Given the description of an element on the screen output the (x, y) to click on. 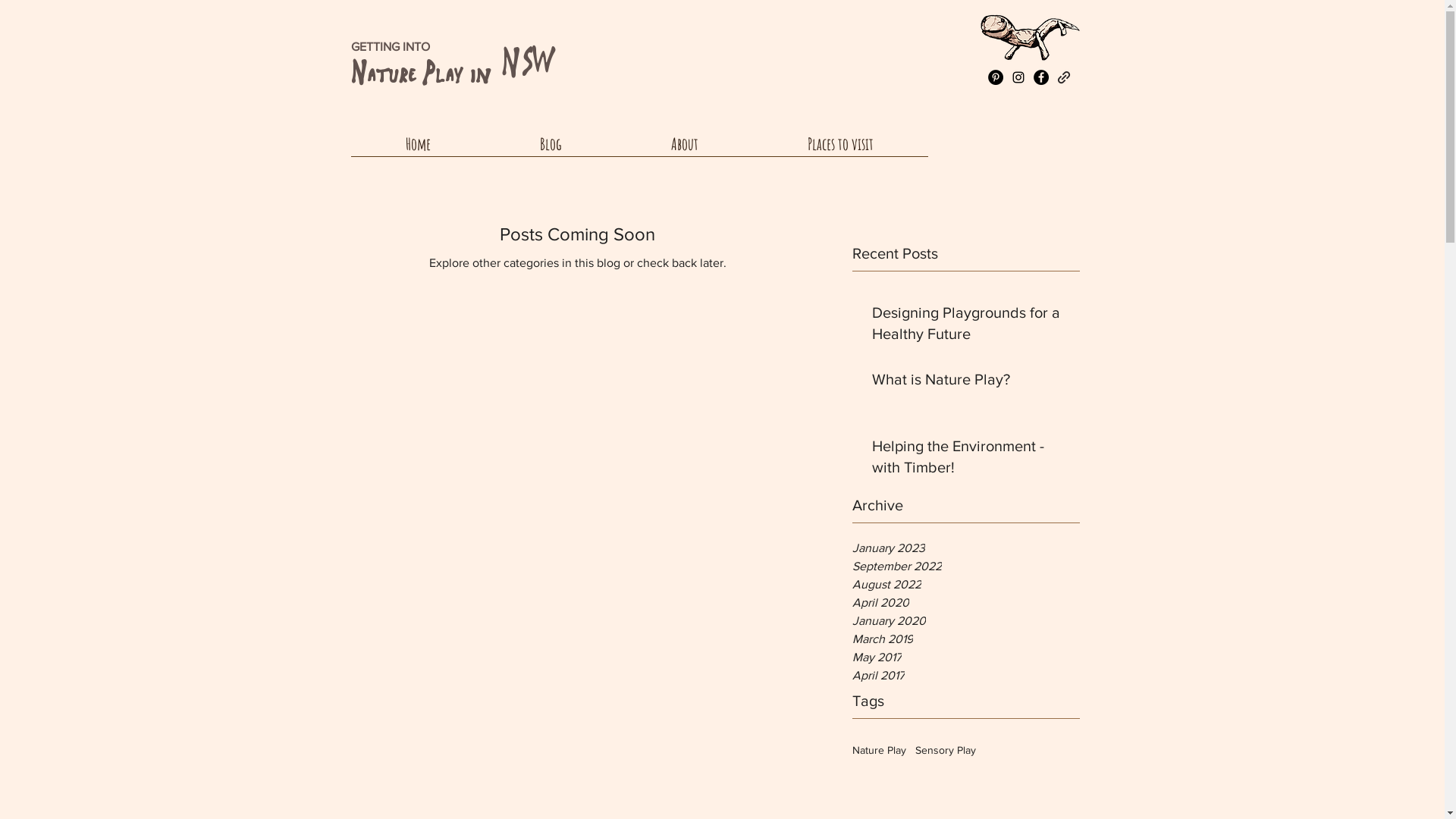
April 2020 Element type: text (965, 602)
Blog Element type: text (550, 148)
Nature Play in Element type: text (420, 73)
March 2019 Element type: text (965, 639)
January 2020 Element type: text (965, 620)
GETTING INTO Element type: text (389, 46)
About Element type: text (683, 148)
January 2023 Element type: text (965, 548)
NSW Element type: text (525, 64)
April 2017 Element type: text (965, 675)
Places to visit Element type: text (839, 148)
August 2022 Element type: text (965, 584)
September 2022 Element type: text (965, 566)
What is Nature Play? Element type: text (971, 381)
Home Element type: text (417, 148)
Designing Playgrounds for a Healthy Future Element type: text (971, 325)
May 2017 Element type: text (965, 657)
Nature Play Element type: text (879, 750)
Helping the Environment - with Timber! Element type: text (971, 459)
Sensory Play Element type: text (944, 750)
